Given the description of an element on the screen output the (x, y) to click on. 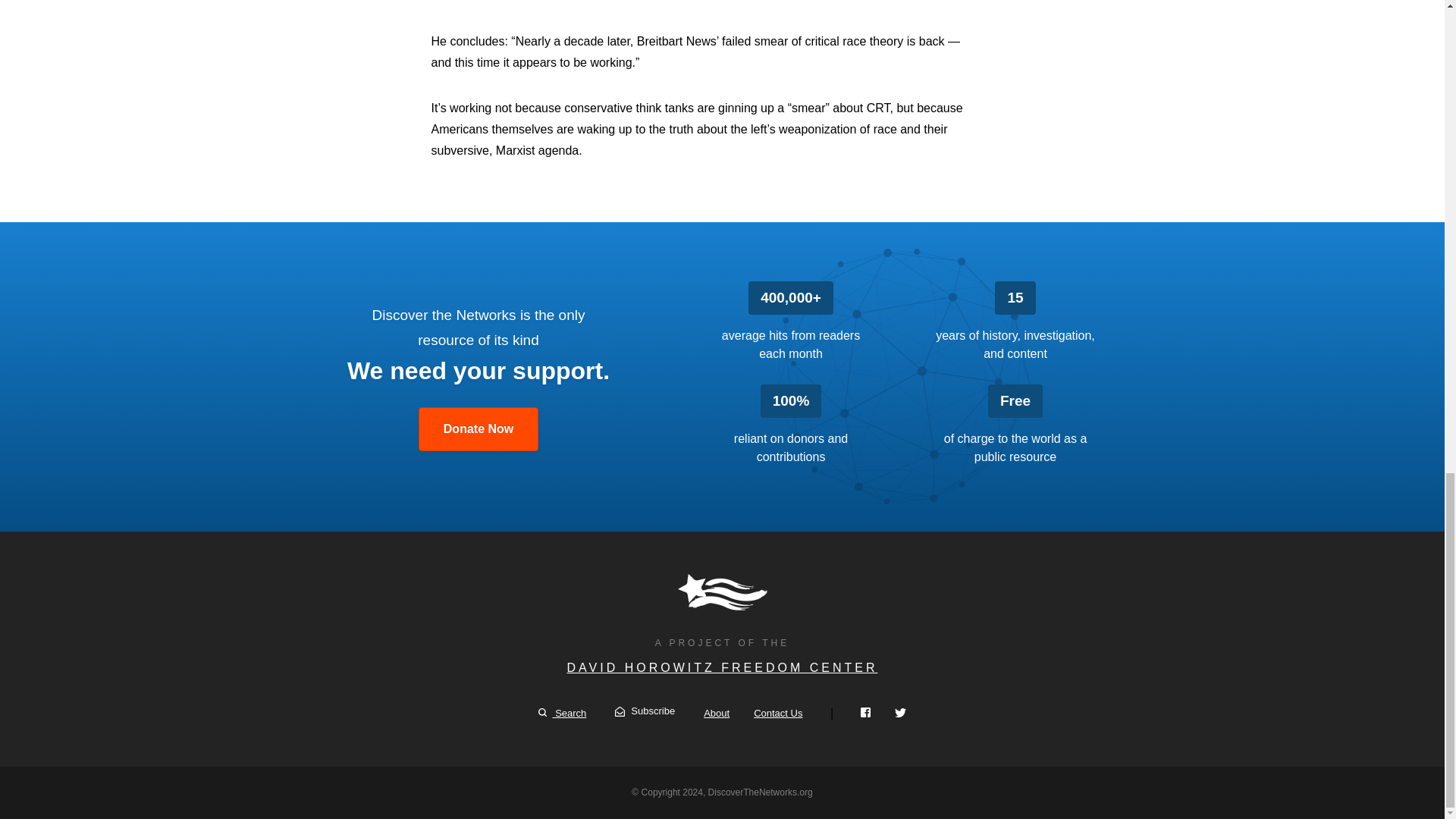
Search (562, 713)
Contact Us (778, 713)
Donate Now (478, 429)
About (716, 713)
DAVID HOROWITZ FREEDOM CENTER (722, 667)
Subscribe (644, 711)
